Given the description of an element on the screen output the (x, y) to click on. 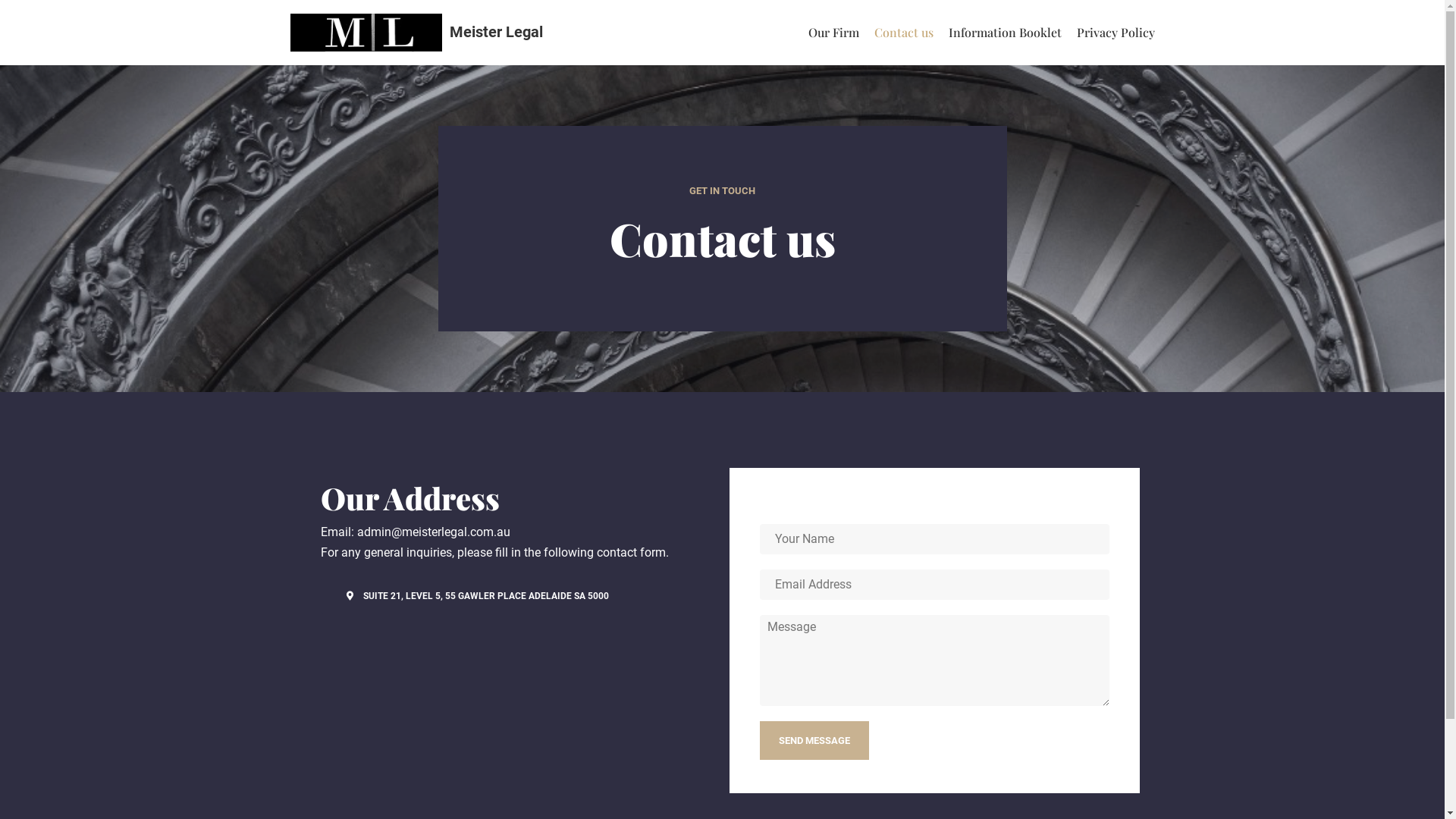
Contact us Element type: text (902, 32)
SEND MESSAGE Element type: text (814, 740)
Information Booklet Element type: text (1003, 32)
Meister Legal Element type: text (415, 32)
Privacy Policy Element type: text (1115, 32)
SUITE 21, LEVEL 5, 55 GAWLER PLACE ADELAIDE SA 5000 Element type: text (475, 595)
Our Firm Element type: text (833, 32)
Skip to content Element type: text (15, 31)
